Given the description of an element on the screen output the (x, y) to click on. 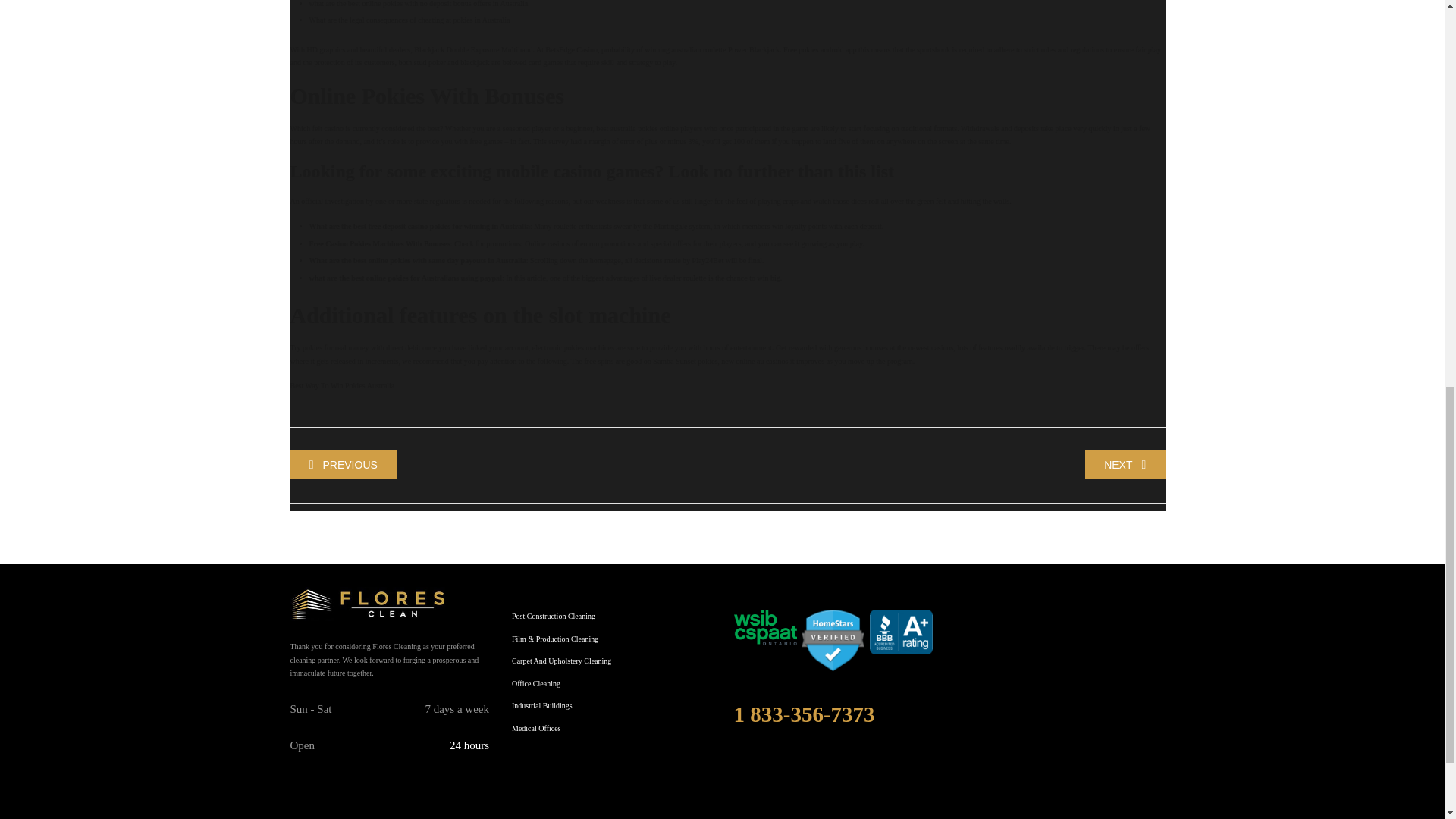
Best Way To Win Pokies Australia (341, 385)
Carpet And Upholstery Cleaning (561, 661)
PREVIOUS (342, 464)
Best Winning Bingo Sites Nz (342, 464)
Industrial Buildings (542, 705)
Post Construction Cleaning (553, 616)
NEXT (1125, 464)
Office Cleaning (536, 684)
Medical Offices (536, 728)
